Given the description of an element on the screen output the (x, y) to click on. 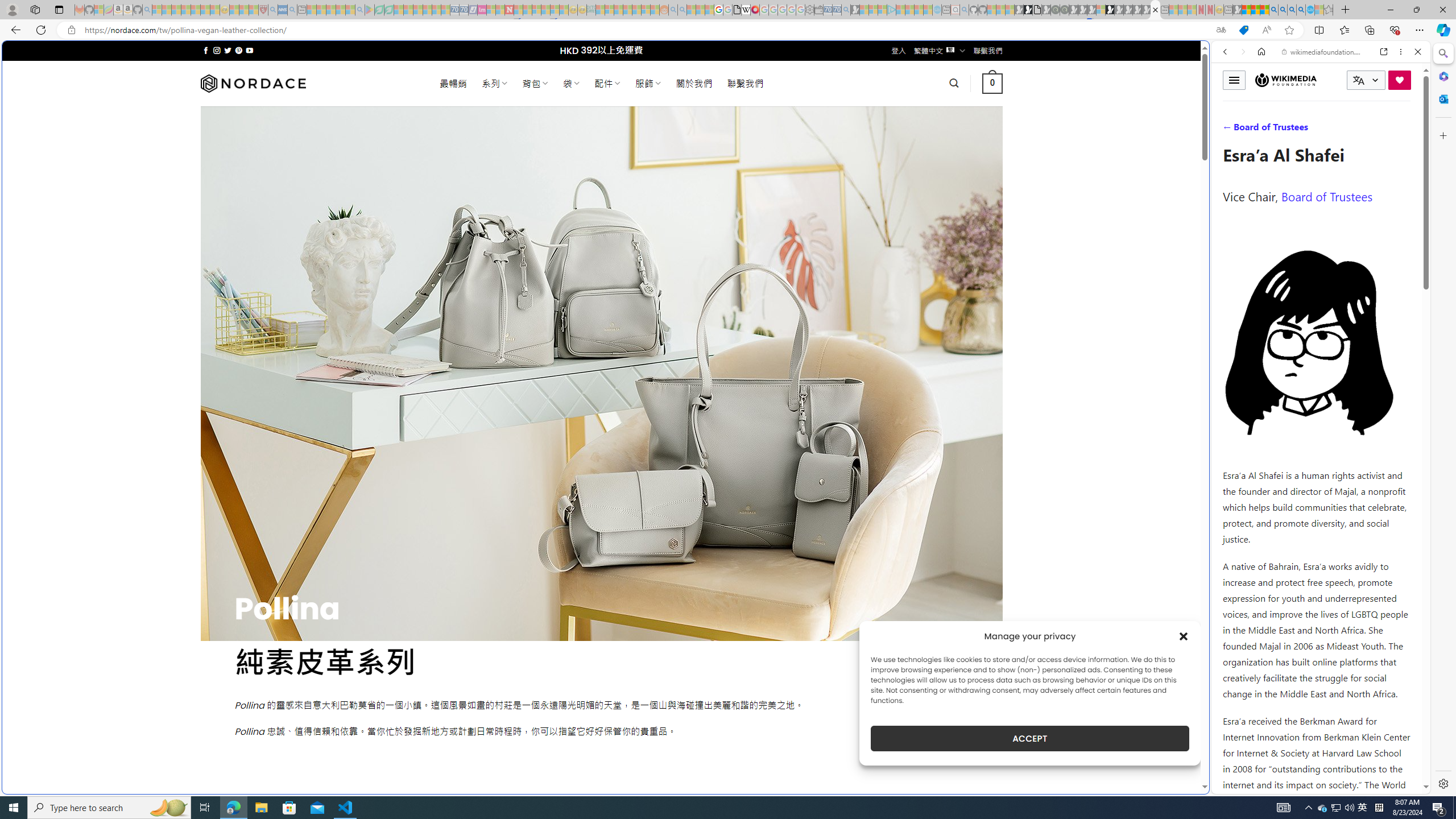
Terms of Use Agreement - Sleeping (378, 9)
Sign in to your account - Sleeping (1100, 9)
New Report Confirms 2023 Was Record Hot | Watch - Sleeping (195, 9)
google_privacy_policy_zh-CN.pdf (736, 9)
Wikimedia Foundation (1286, 79)
MSNBC - MSN - Sleeping (600, 9)
